Given the description of an element on the screen output the (x, y) to click on. 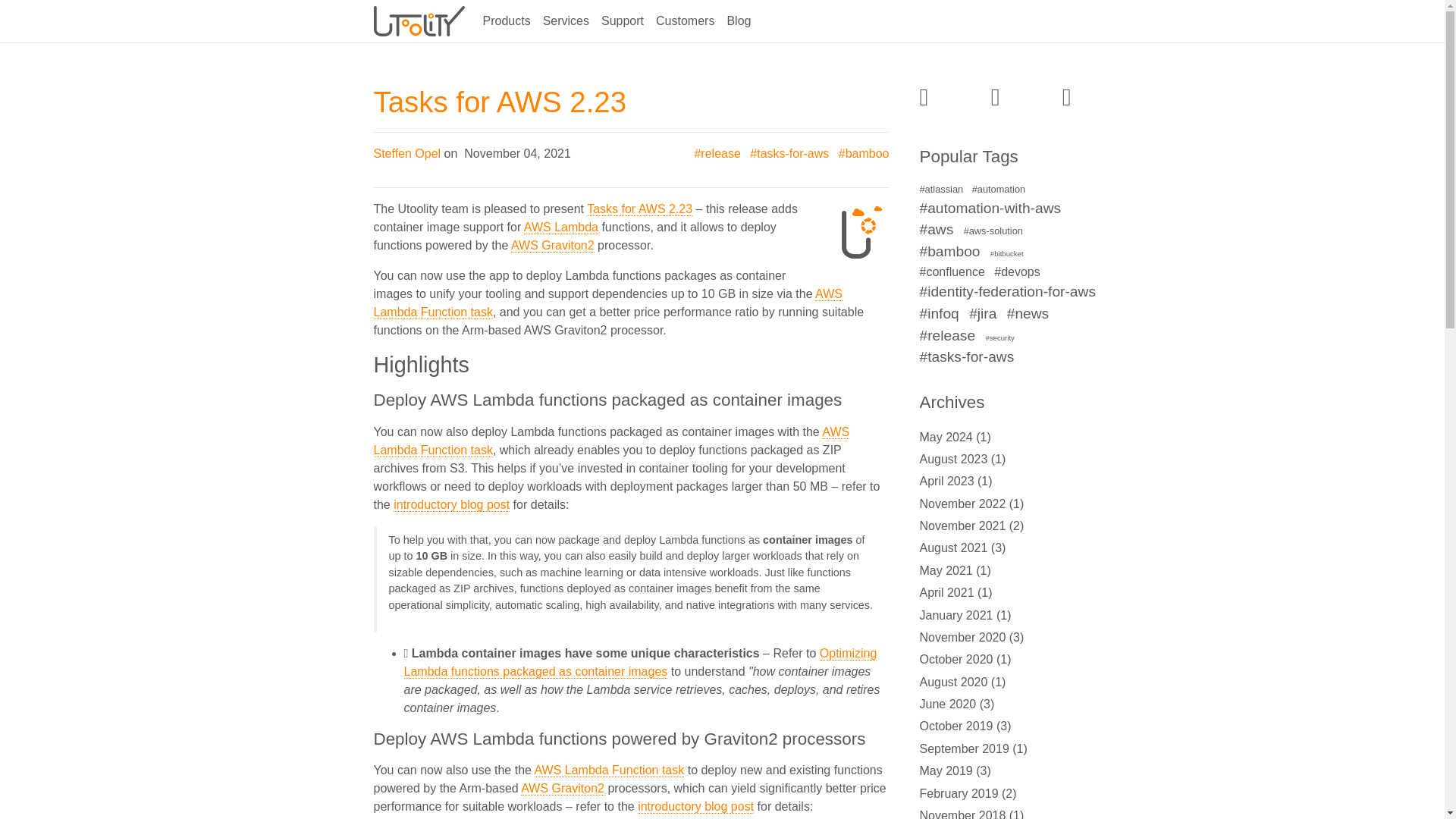
introductory blog post (695, 807)
AWS Lambda Function task (610, 440)
AWS Lambda Function task (609, 770)
AWS Lambda (561, 227)
Tasks for AWS 2.23 (499, 101)
introductory blog post (451, 504)
AWS Graviton2 (552, 245)
Popular Tags (994, 163)
Customers (684, 21)
Products (505, 21)
